Given the description of an element on the screen output the (x, y) to click on. 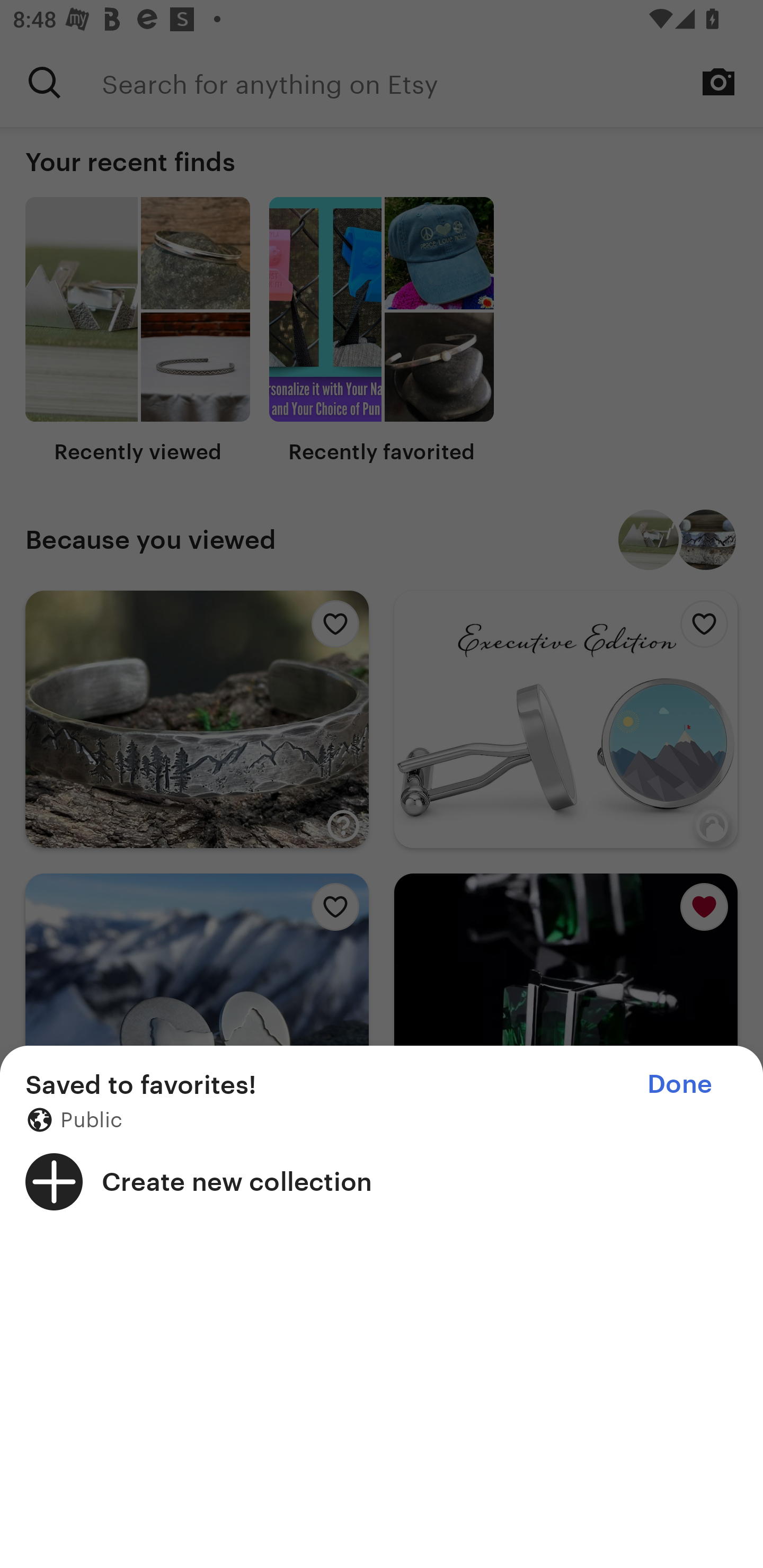
Done (679, 1083)
Create new collection (381, 1181)
